Given the description of an element on the screen output the (x, y) to click on. 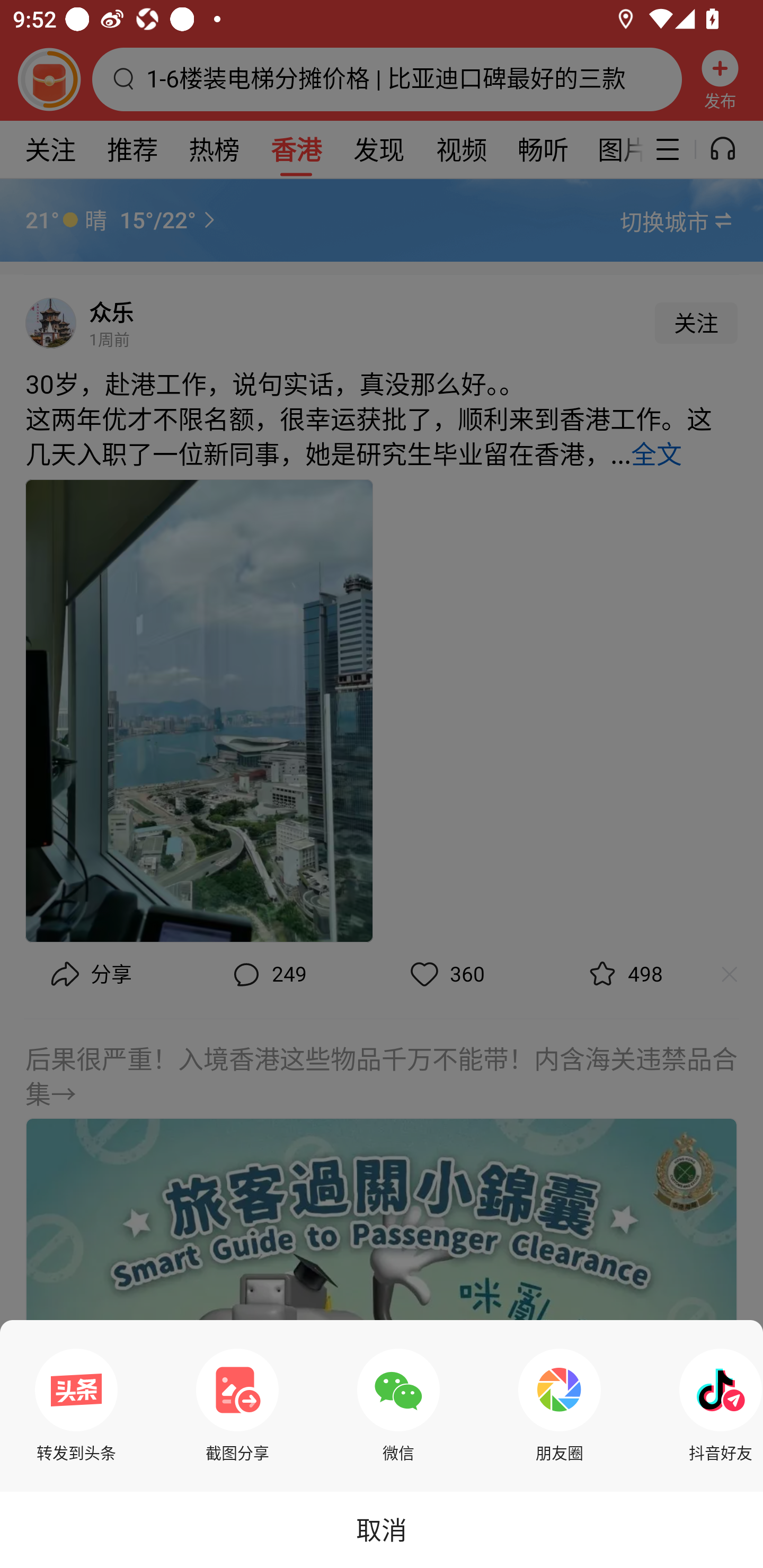
转发到头条 (76, 1405)
截图分享 (237, 1405)
微信 (398, 1405)
朋友圈 (559, 1405)
抖音好友 (716, 1405)
取消 (381, 1529)
